Given the description of an element on the screen output the (x, y) to click on. 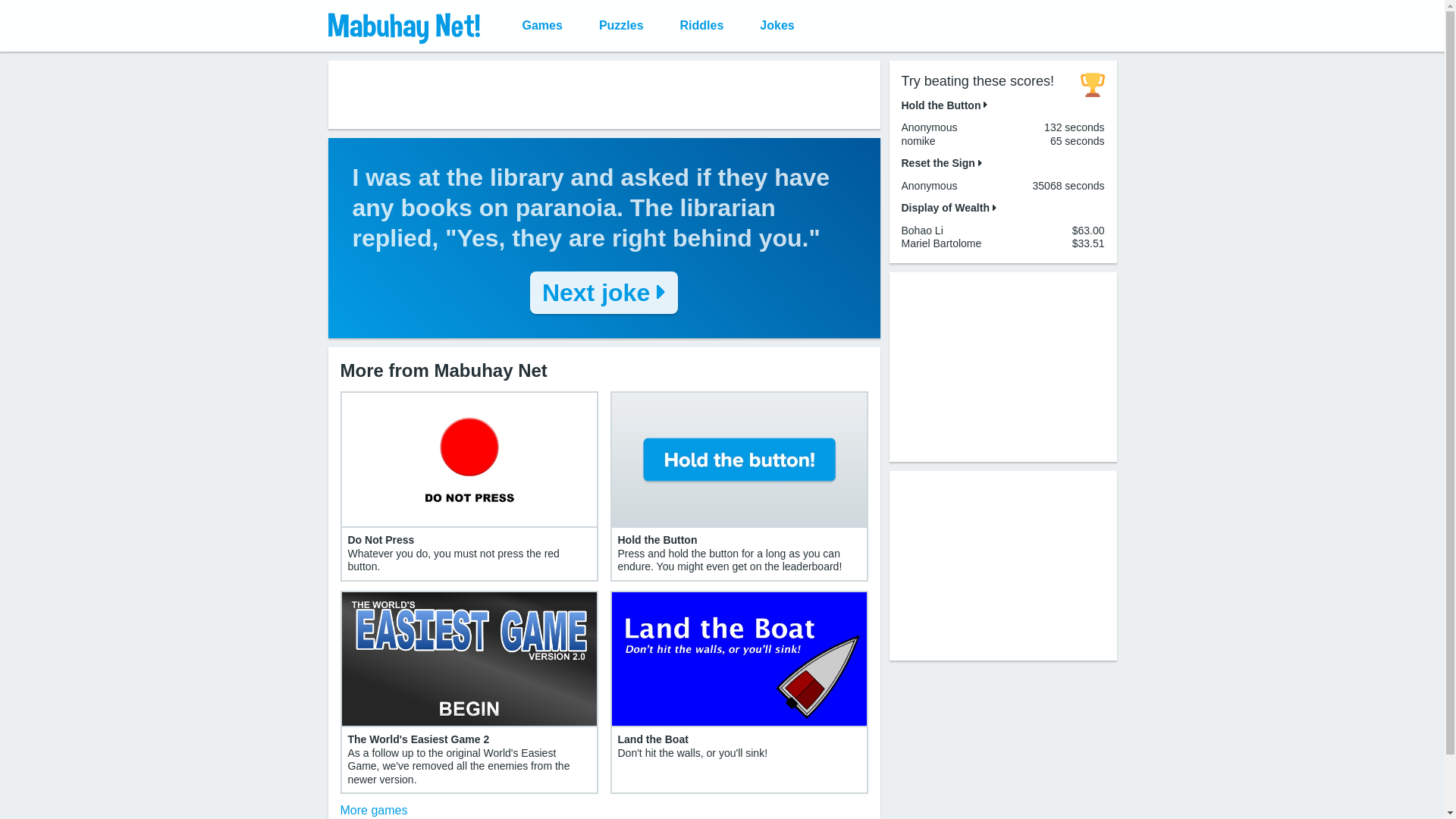
Land the Boat (652, 739)
Riddles (702, 25)
Puzzles (621, 25)
The World's Easiest Game 2 (418, 739)
Jokes (776, 25)
Do Not Press (380, 539)
Advertisement (1002, 565)
Advertisement (603, 94)
More games (373, 809)
Display of Wealth (948, 207)
Hold the Button (657, 539)
Advertisement (1002, 366)
Hold the Button (944, 104)
Reset the Sign (941, 162)
Next joke (603, 292)
